Given the description of an element on the screen output the (x, y) to click on. 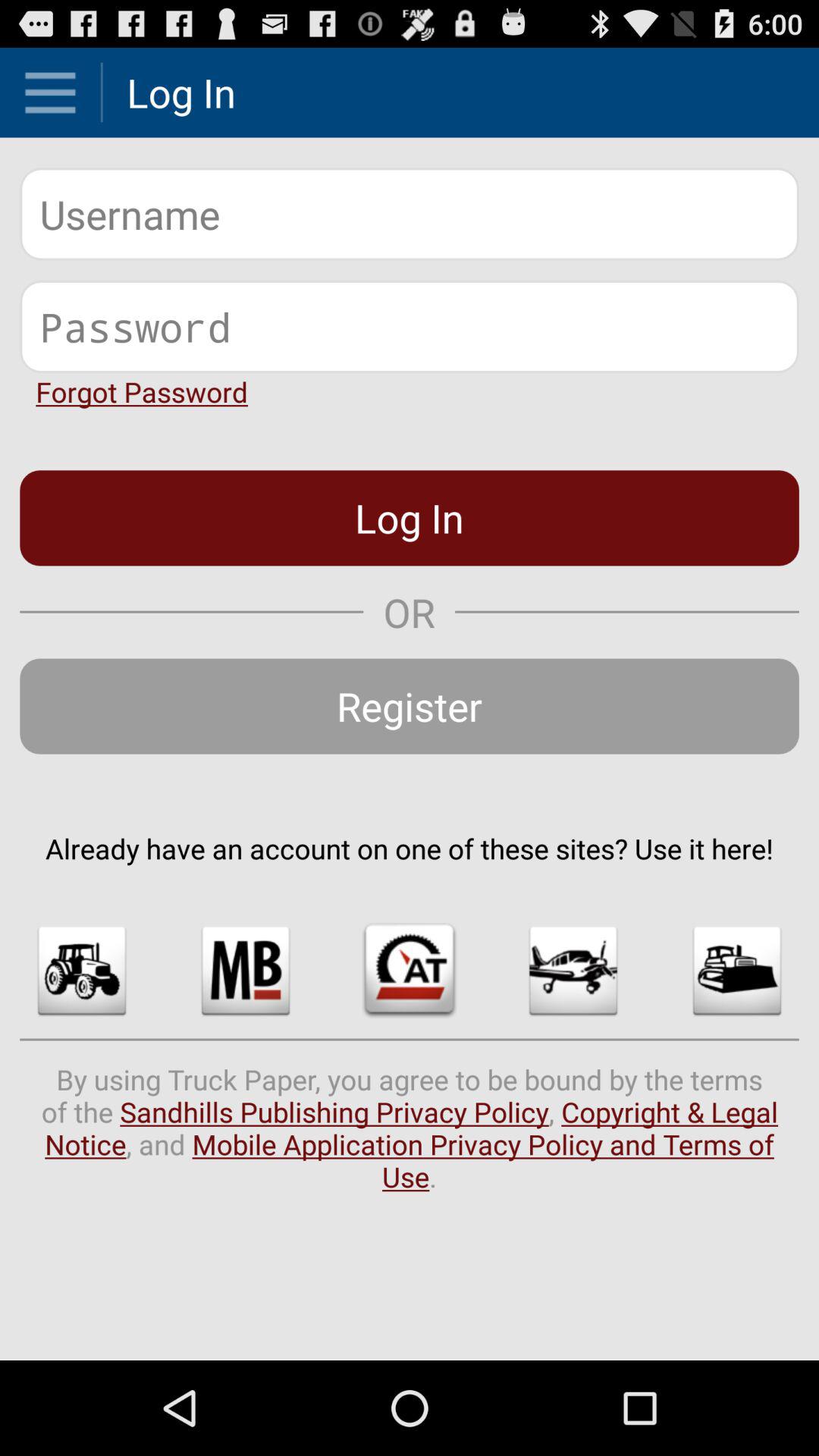
toggle mb account (245, 970)
